Given the description of an element on the screen output the (x, y) to click on. 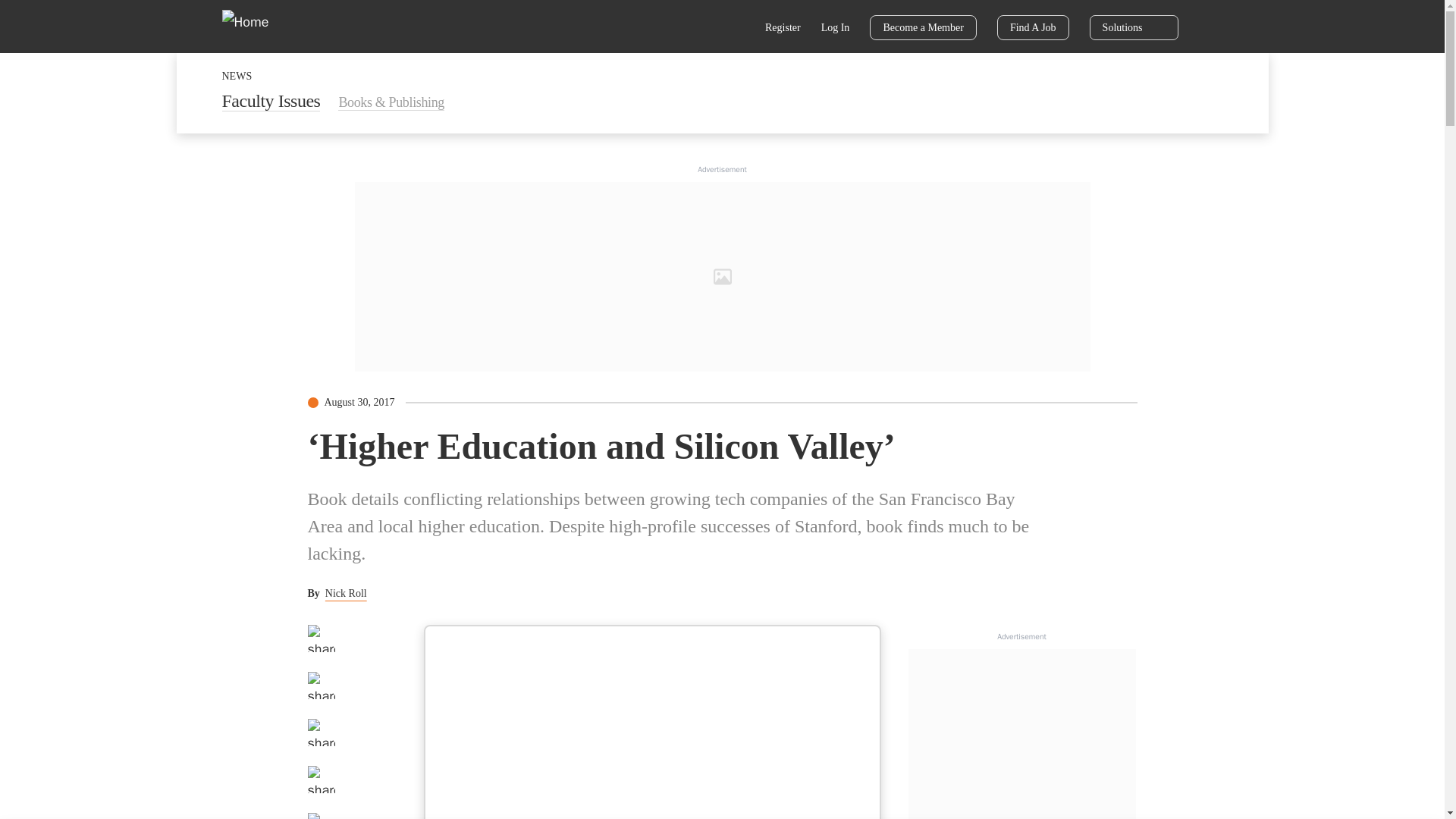
Search (736, 28)
Find A Job (1032, 27)
Become a Member (922, 27)
Home (255, 26)
share to Linkedin (320, 732)
share to twitter (320, 685)
share by email (320, 779)
share to facebook (320, 637)
